Given the description of an element on the screen output the (x, y) to click on. 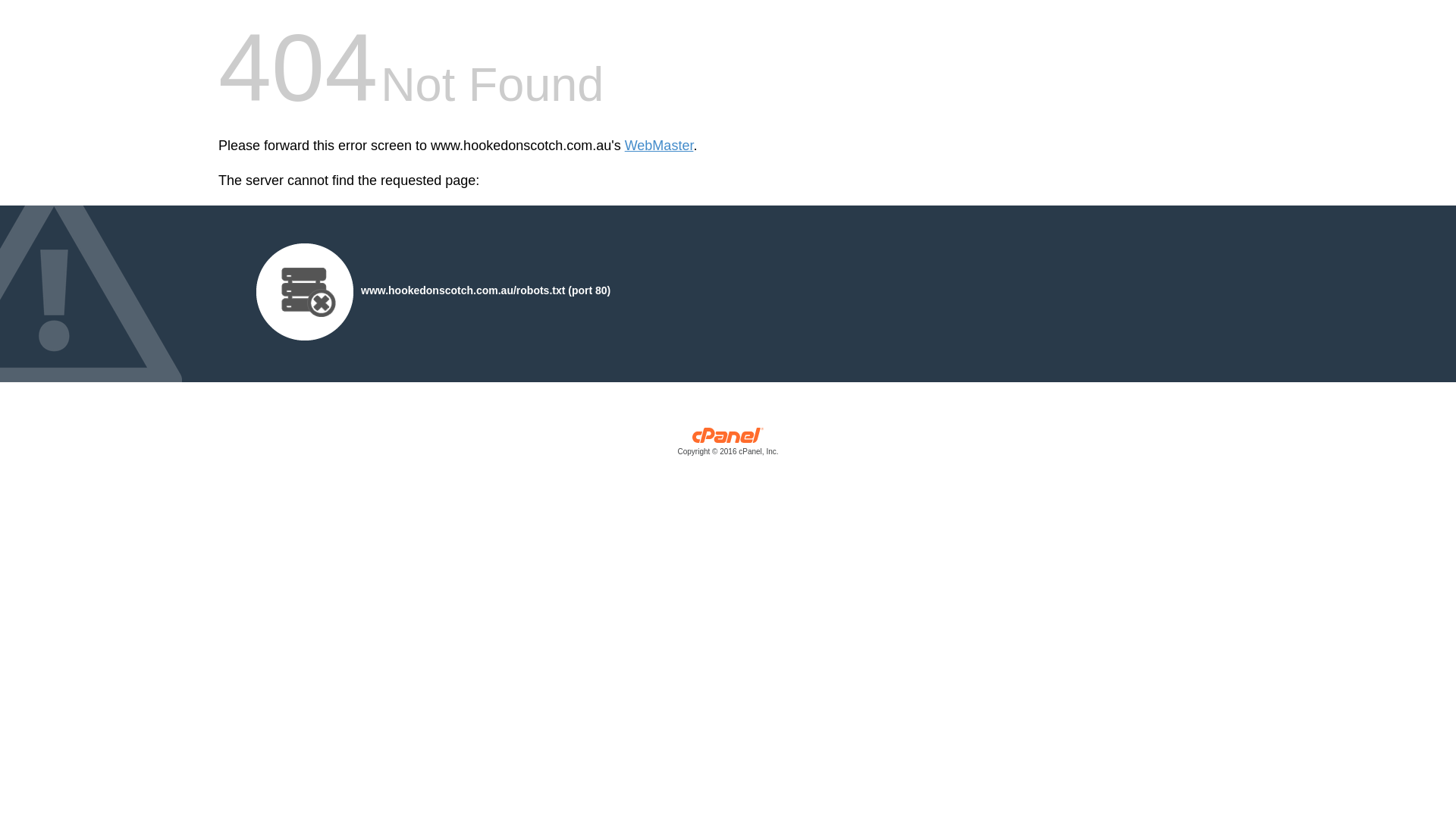
WebMaster Element type: text (658, 145)
